Given the description of an element on the screen output the (x, y) to click on. 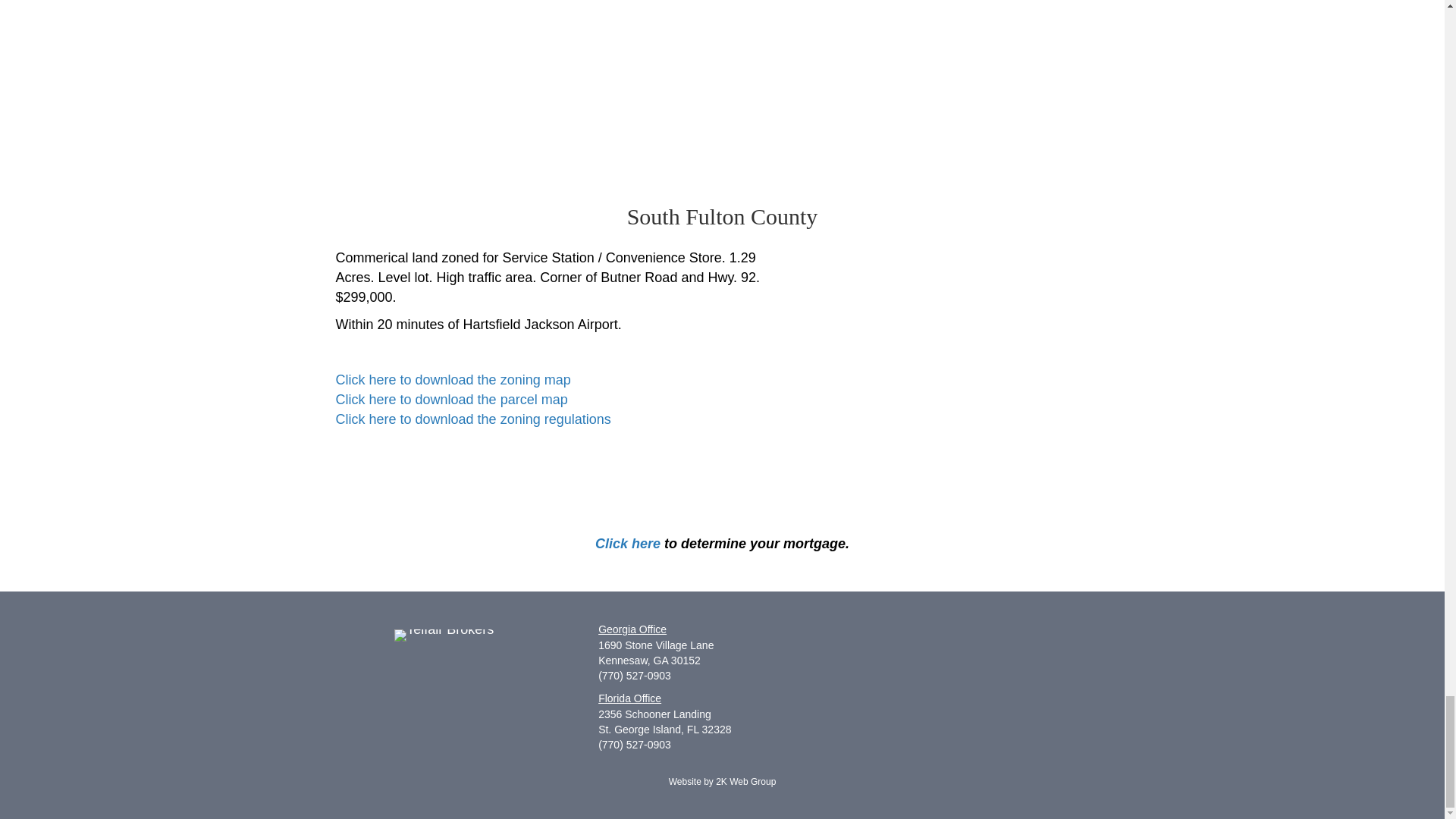
Click here to download the zoning map (452, 378)
Website by 2K Web Group (722, 781)
Click here to download the zoning regulations (472, 418)
Click here to download the parcel map (450, 399)
Click here (628, 543)
